Given the description of an element on the screen output the (x, y) to click on. 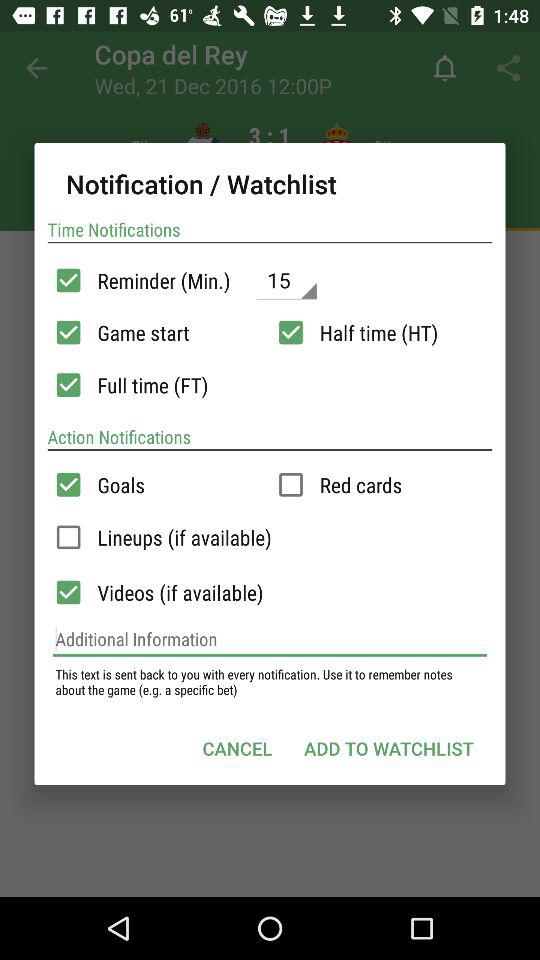
check off this option (68, 537)
